Given the description of an element on the screen output the (x, y) to click on. 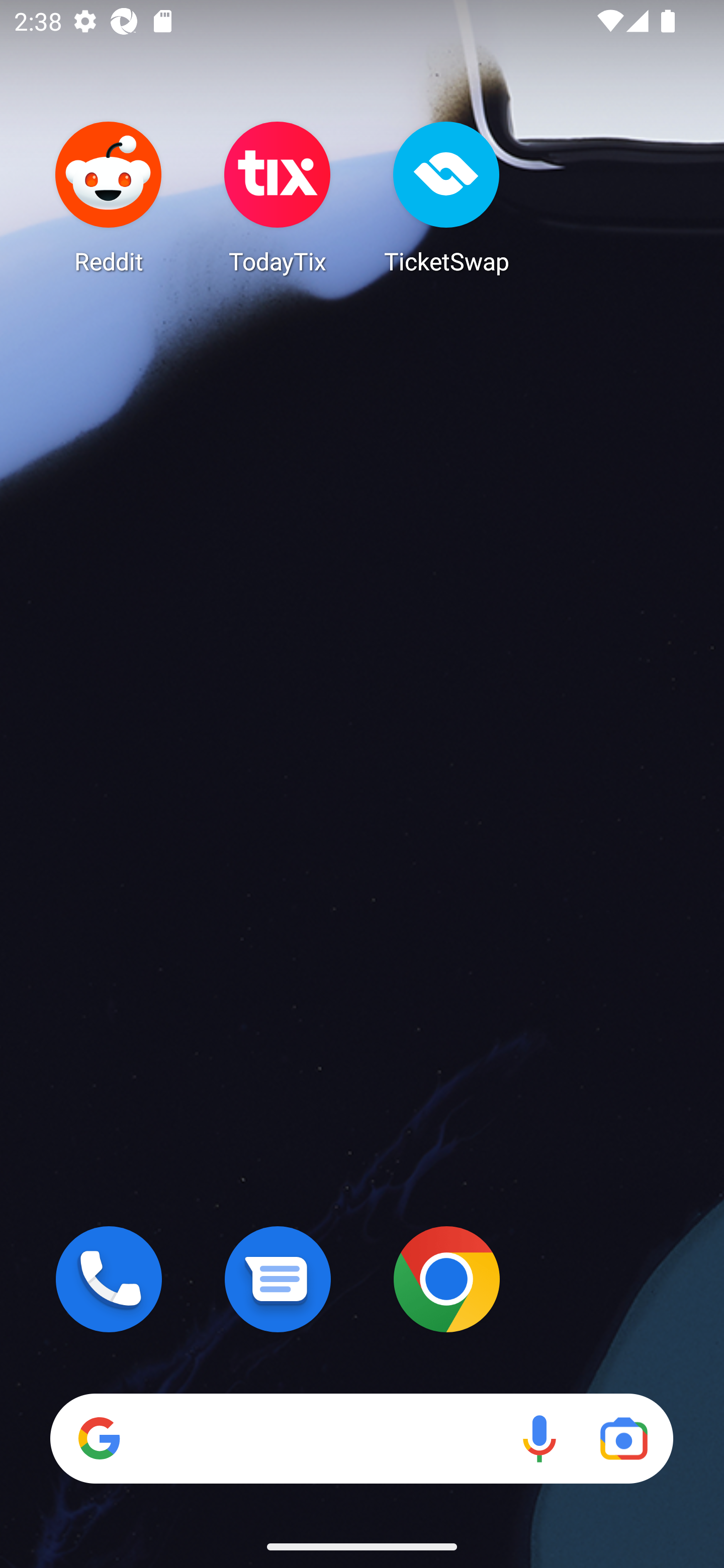
Reddit (108, 196)
TodayTix (277, 196)
TicketSwap (445, 196)
Phone (108, 1279)
Messages (277, 1279)
Chrome (446, 1279)
Voice search (539, 1438)
Google Lens (623, 1438)
